Given the description of an element on the screen output the (x, y) to click on. 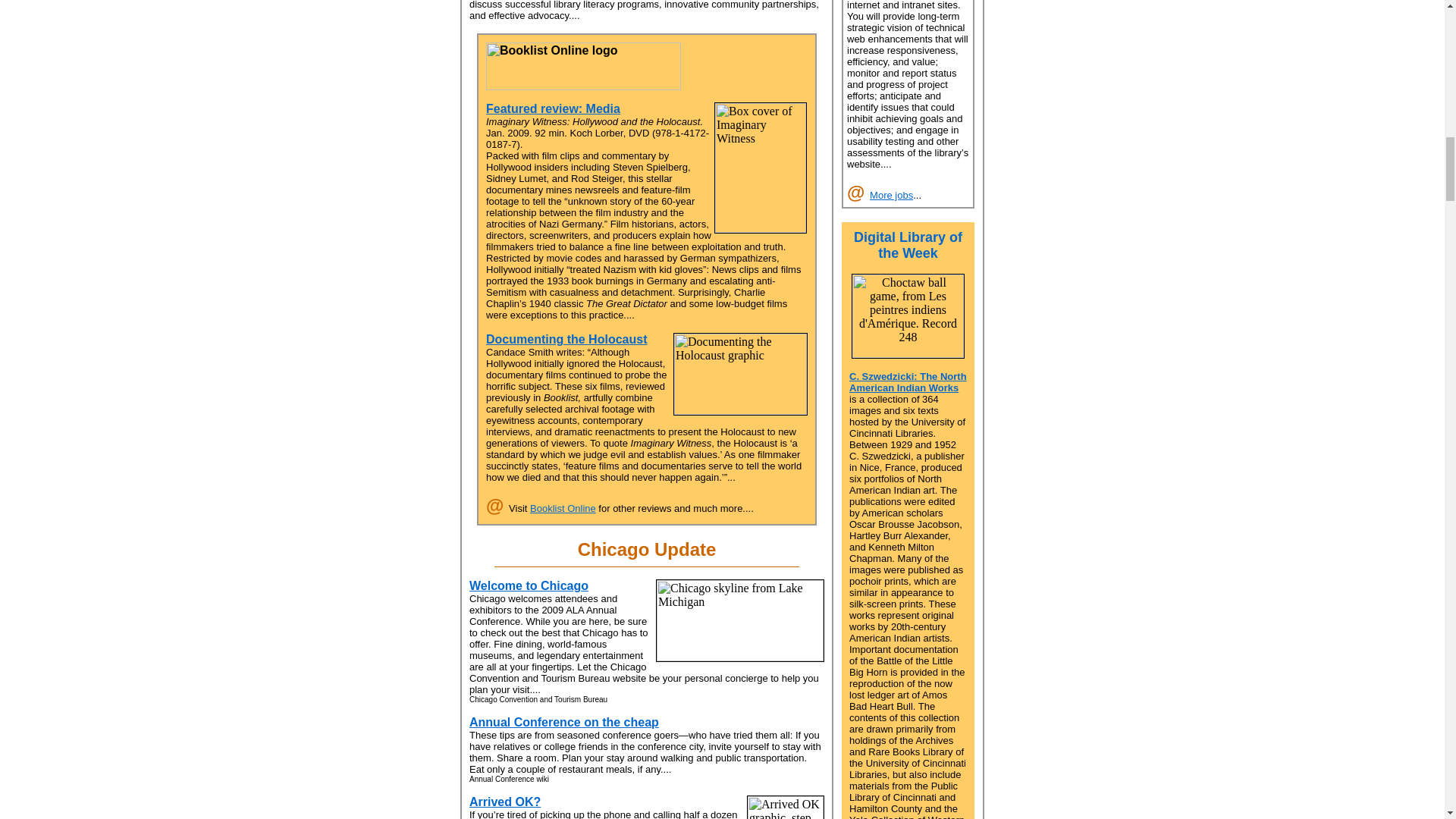
Documenting the Holocaust graphic (740, 373)
Chicago skyline from Lake Michigan (740, 620)
Booklist Online (562, 508)
Featured review: Media (553, 108)
Booklist Online logo (583, 66)
Documenting the Holocaust (566, 338)
